Given the description of an element on the screen output the (x, y) to click on. 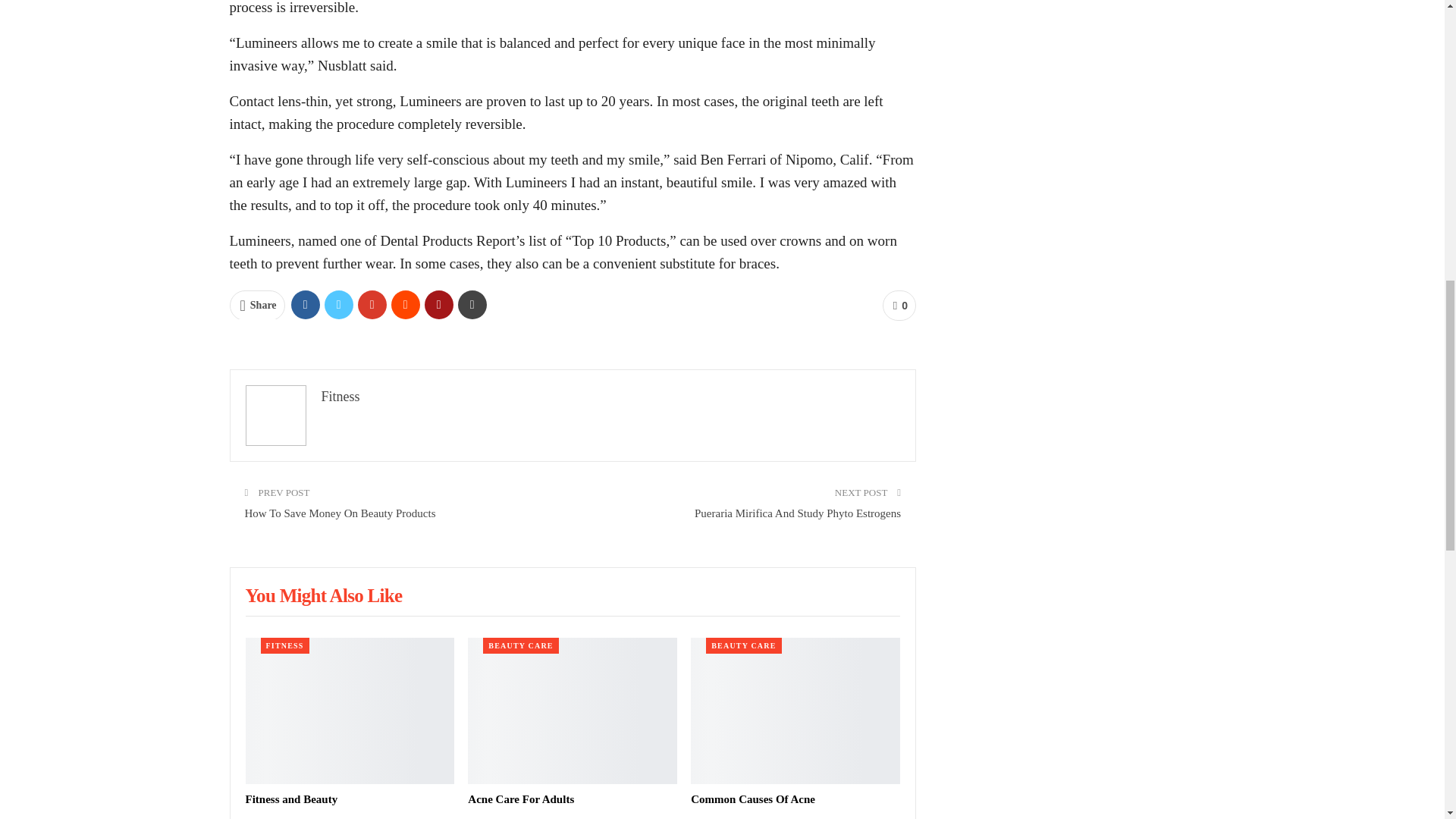
You Might Also Like (324, 597)
How To Save Money On Beauty Products (339, 512)
Pueraria Mirifica And Study Phyto Estrogens (797, 512)
Fitness and Beauty (291, 799)
Acne Care For Adults (520, 799)
Fitness (340, 396)
Fitness and Beauty (350, 710)
Acne Care For Adults (572, 710)
BEAUTY CARE (520, 645)
FITNESS (284, 645)
